Given the description of an element on the screen output the (x, y) to click on. 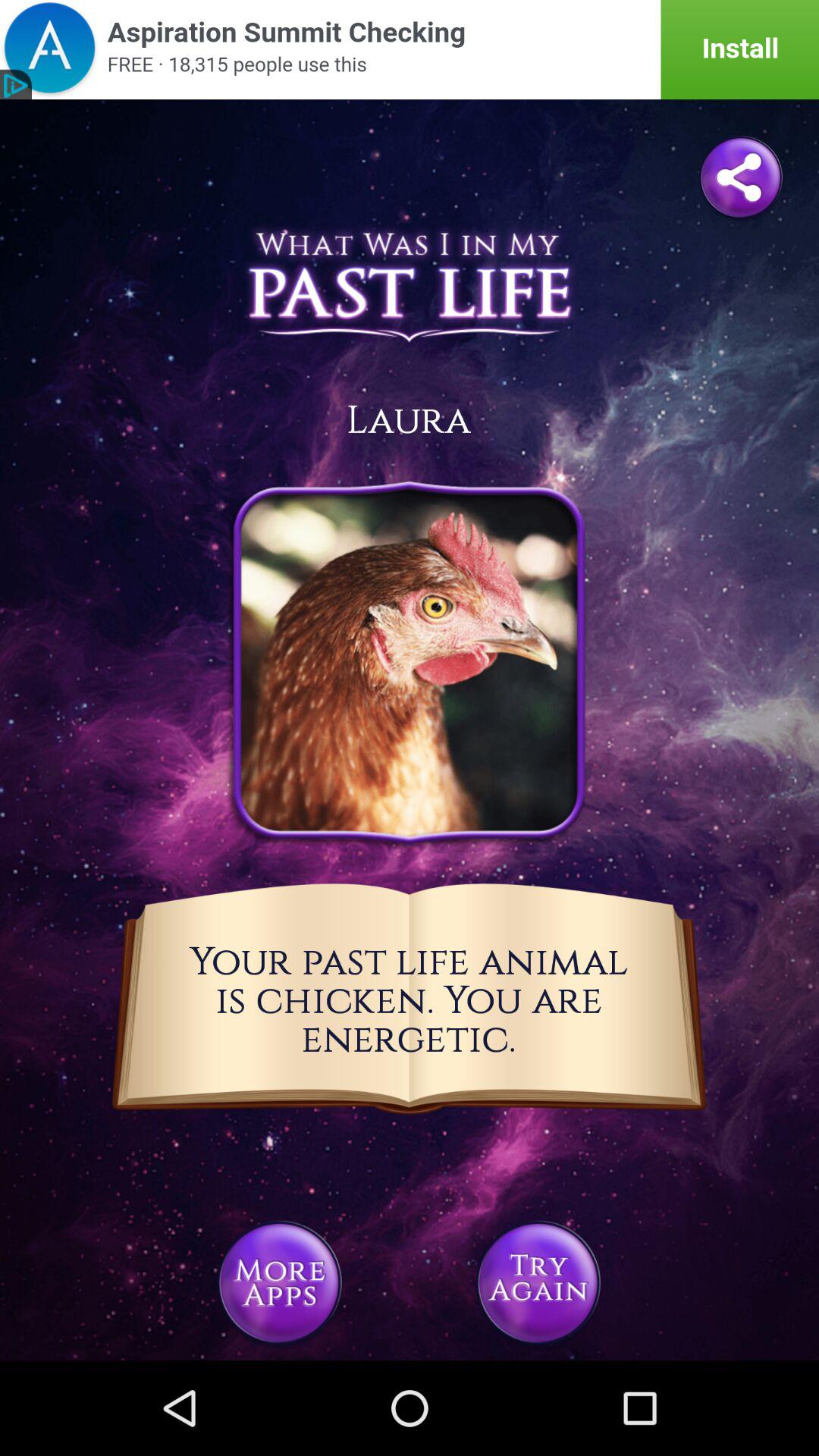
try quiz again (537, 1282)
